Given the description of an element on the screen output the (x, y) to click on. 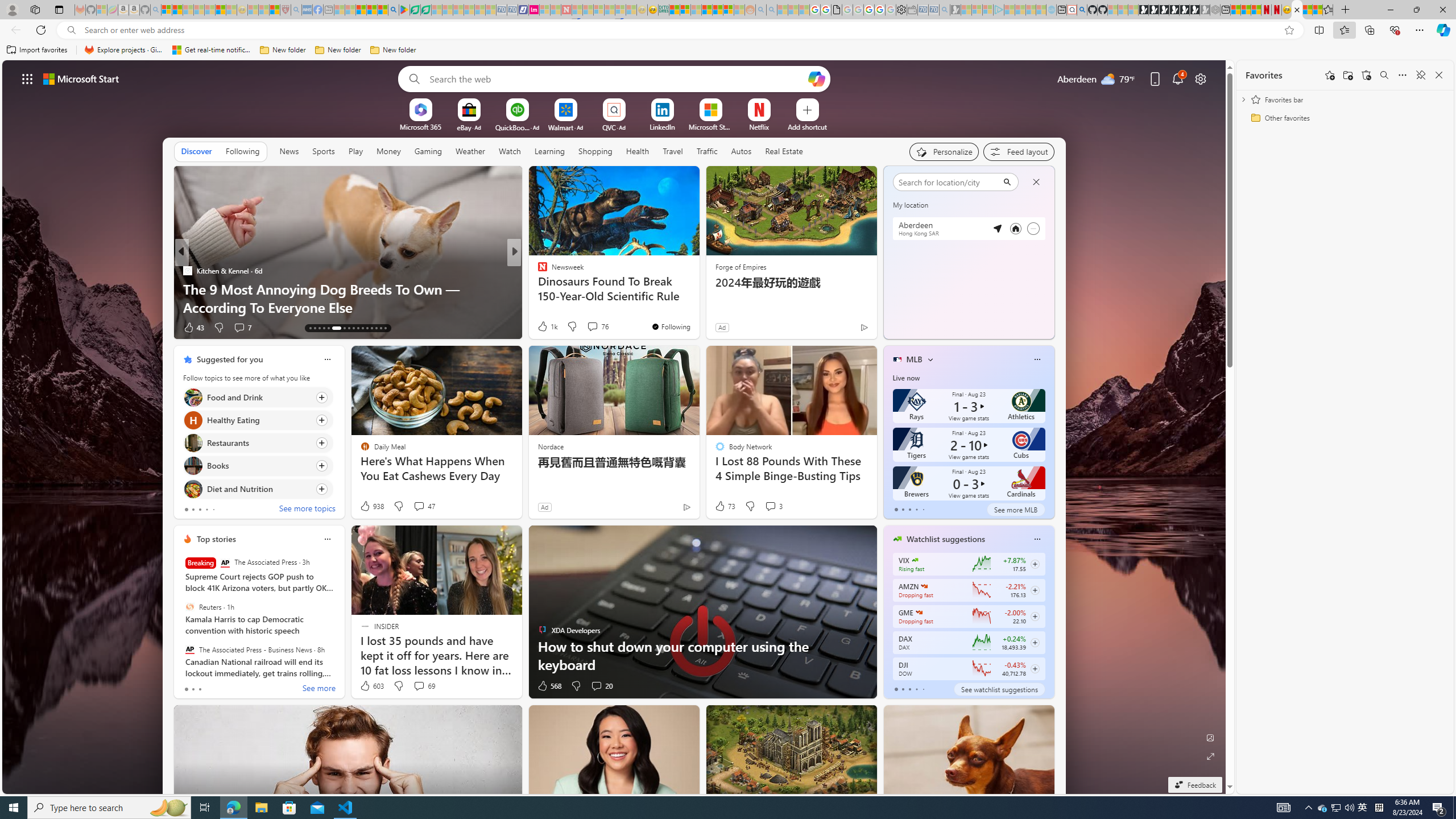
View comments 69 Comment (423, 685)
You're following Newsweek (670, 326)
View comments 6 Comment (592, 327)
See more MLB (1015, 509)
View comments 3 Comment (770, 505)
